Given the description of an element on the screen output the (x, y) to click on. 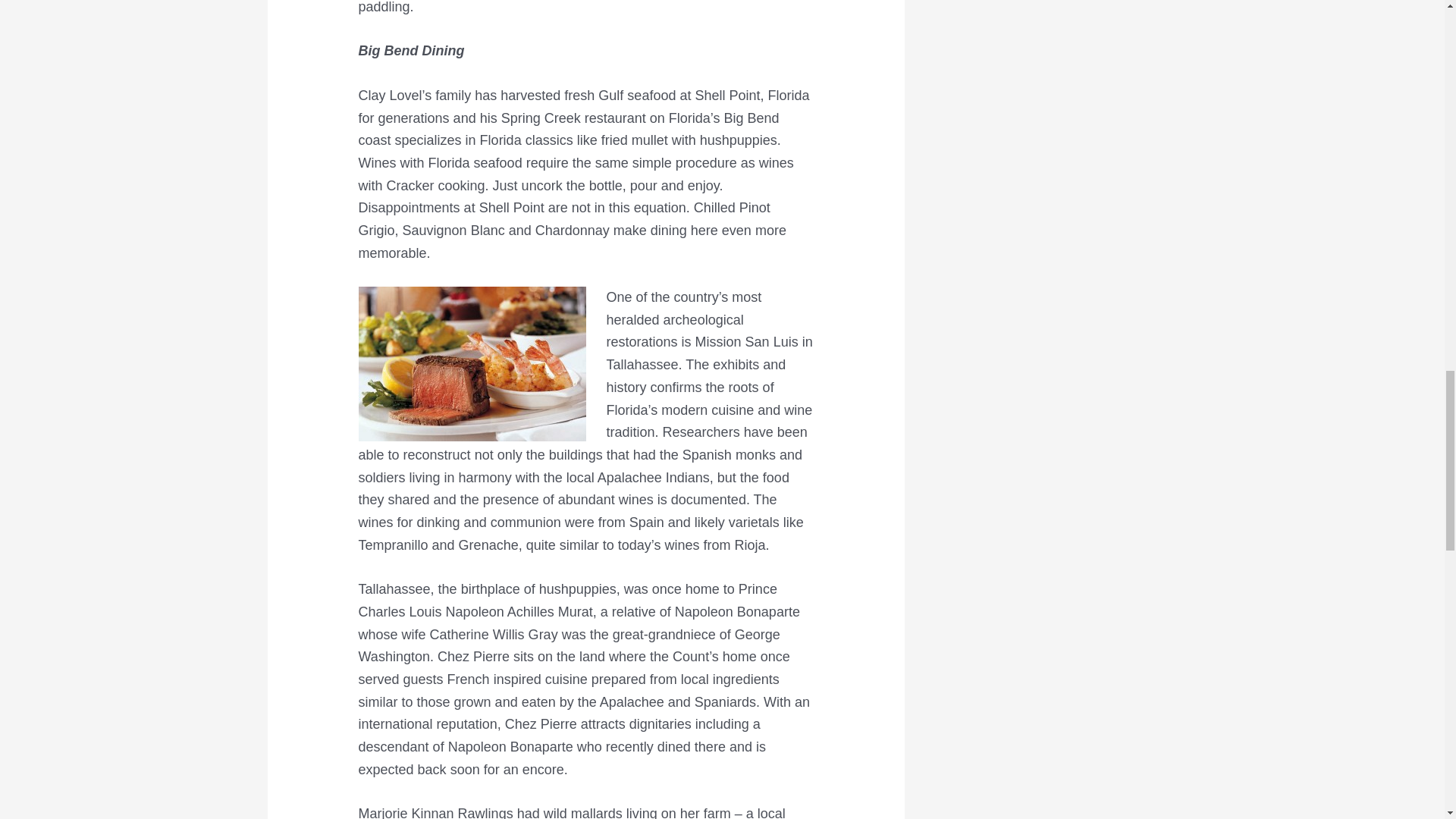
floridacuisine (472, 363)
